Given the description of an element on the screen output the (x, y) to click on. 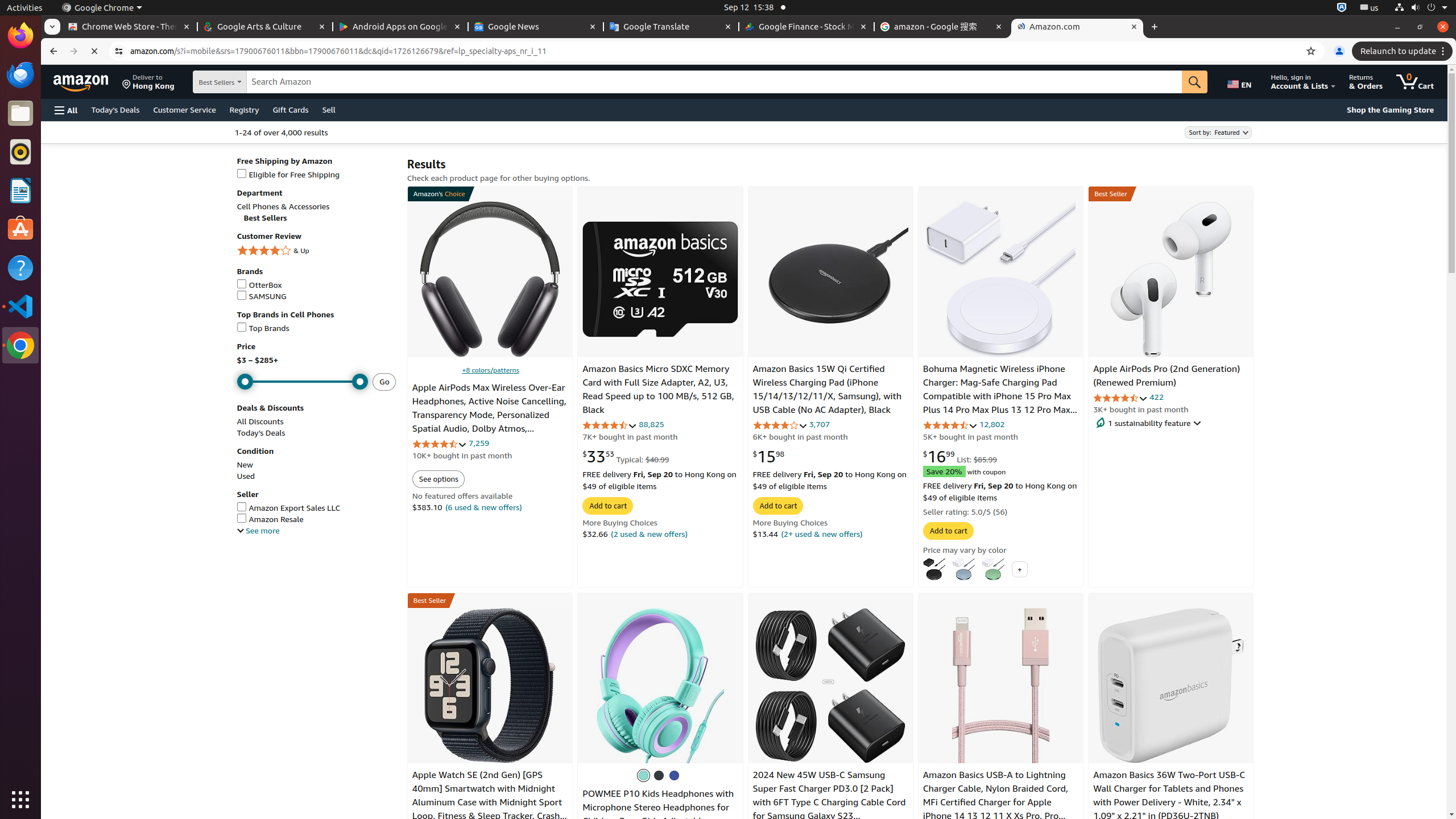
Black Element type: push-button (659, 775)
